Given the description of an element on the screen output the (x, y) to click on. 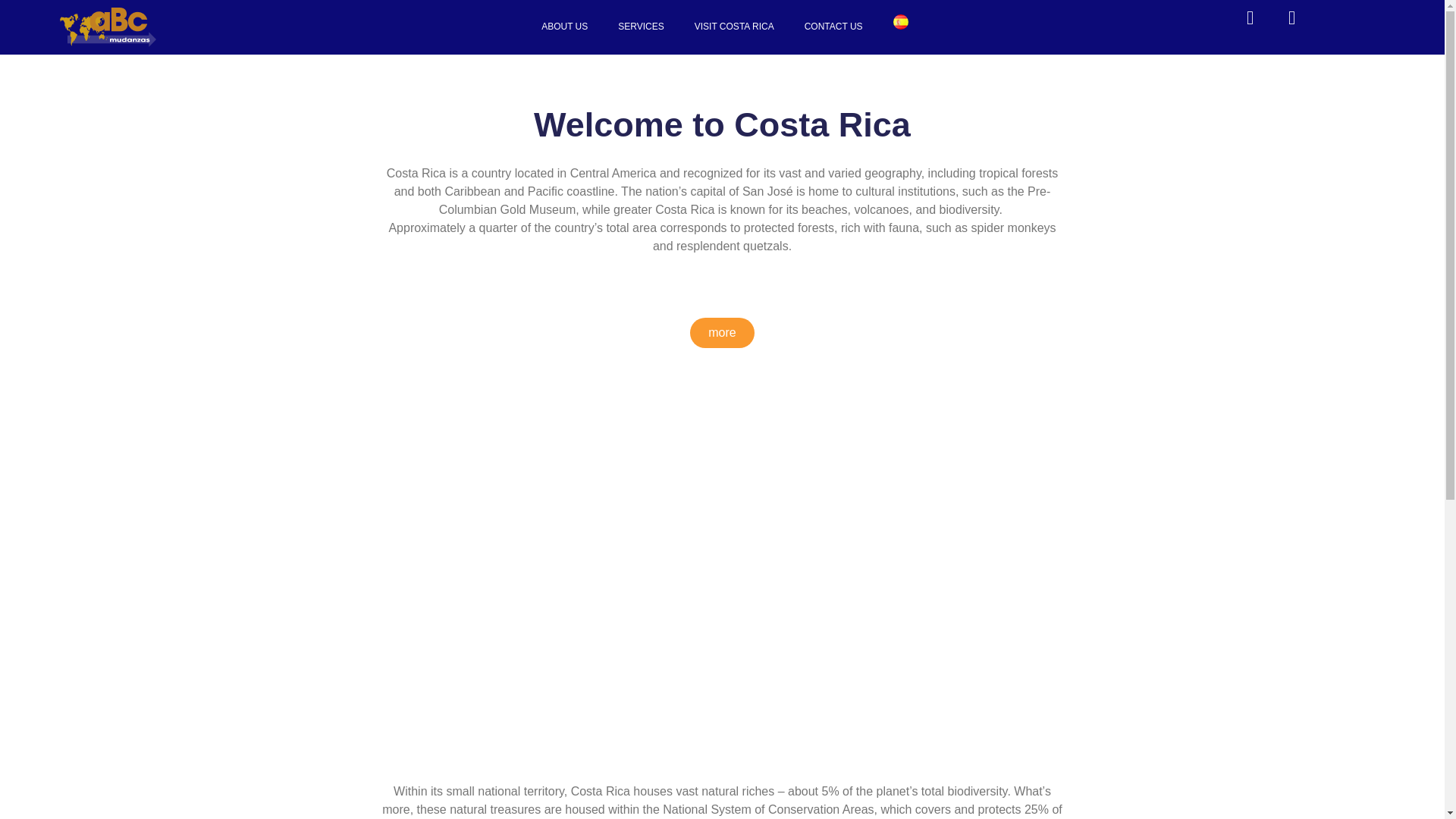
VISIT COSTA RICA (734, 26)
CONTACT US (833, 26)
ABOUT US (563, 26)
SERVICES (640, 26)
more (722, 332)
